Given the description of an element on the screen output the (x, y) to click on. 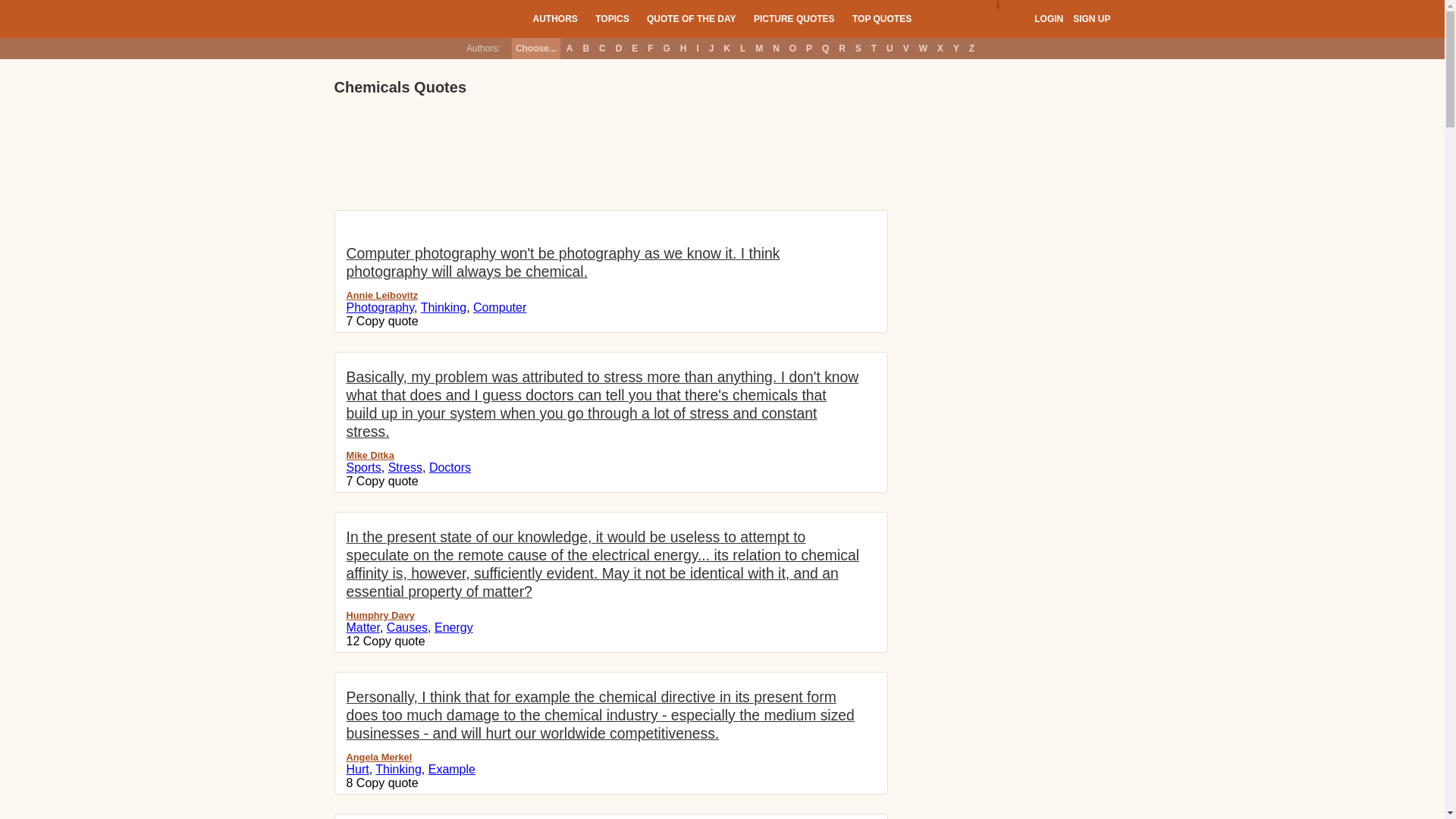
TOP QUOTES (881, 18)
Choose... (536, 47)
Quote is copied (393, 640)
TOPICS (612, 18)
Quote is copied (387, 481)
PICTURE QUOTES (794, 18)
AUTHORS (554, 18)
QUOTE OF THE DAY (691, 18)
Quote is copied (387, 320)
Quote is copied (387, 782)
